Given the description of an element on the screen output the (x, y) to click on. 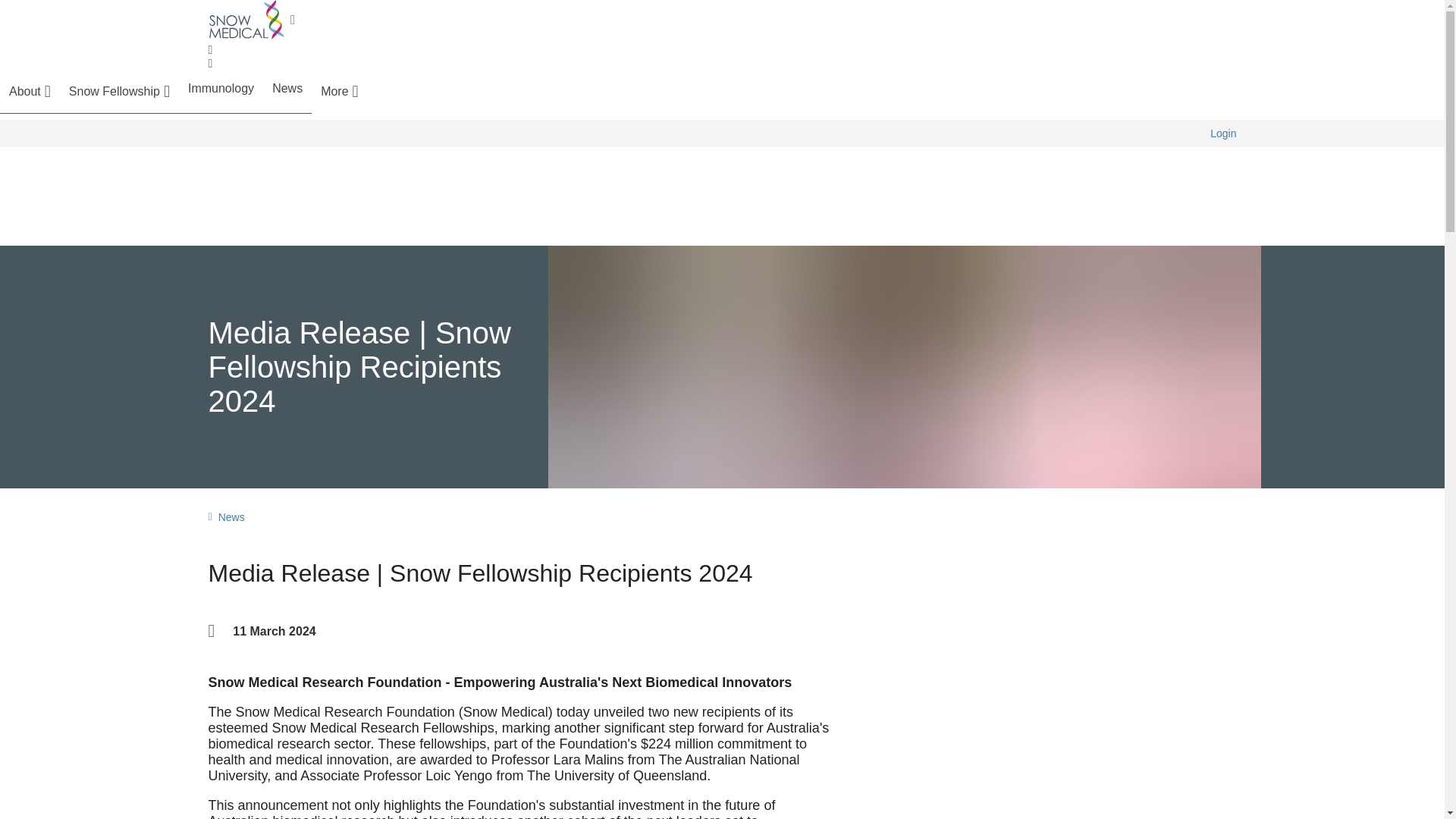
News (287, 88)
Login (1222, 133)
About (29, 91)
More (339, 91)
Snow Fellowship (119, 91)
Immunology (220, 88)
